Given the description of an element on the screen output the (x, y) to click on. 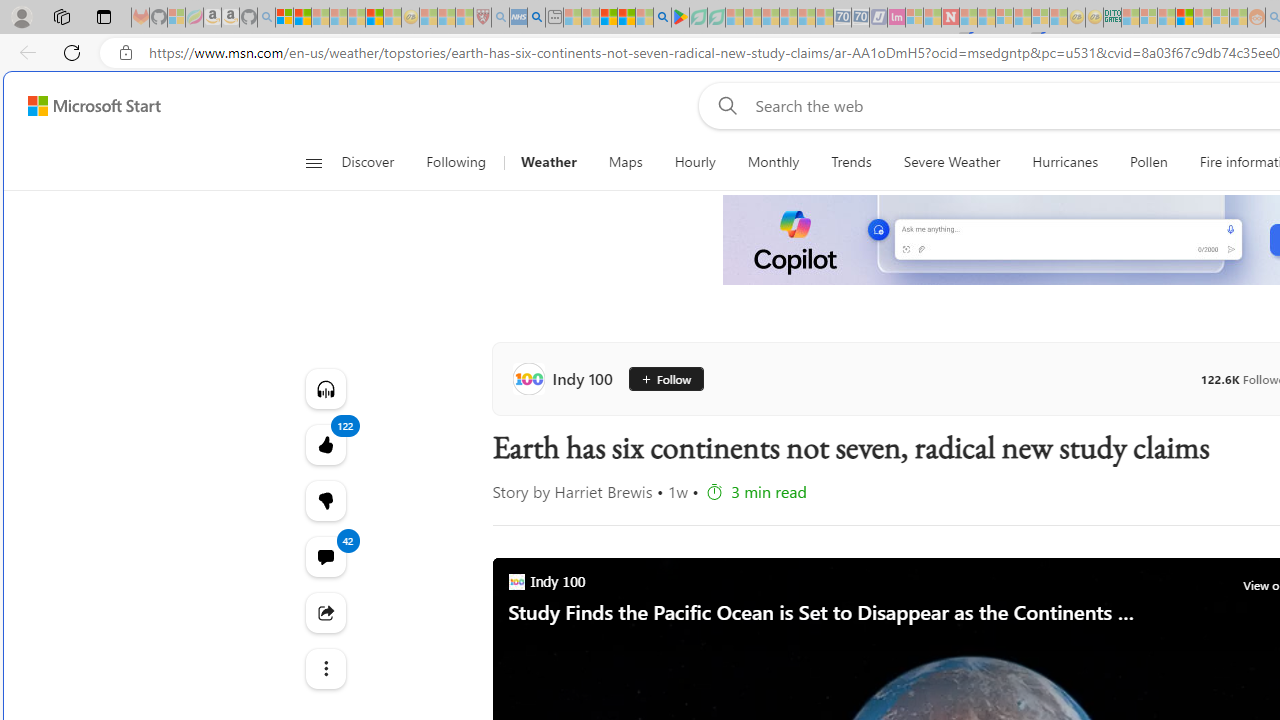
The Weather Channel - MSN - Sleeping (320, 17)
Expert Portfolios - Sleeping (1184, 17)
Hourly (694, 162)
Maps (625, 162)
Weather (548, 162)
122 (324, 500)
Kinda Frugal - MSN - Sleeping (1202, 17)
14 Common Myths Debunked By Scientific Facts - Sleeping (985, 17)
Hurricanes (1065, 162)
